Given the description of an element on the screen output the (x, y) to click on. 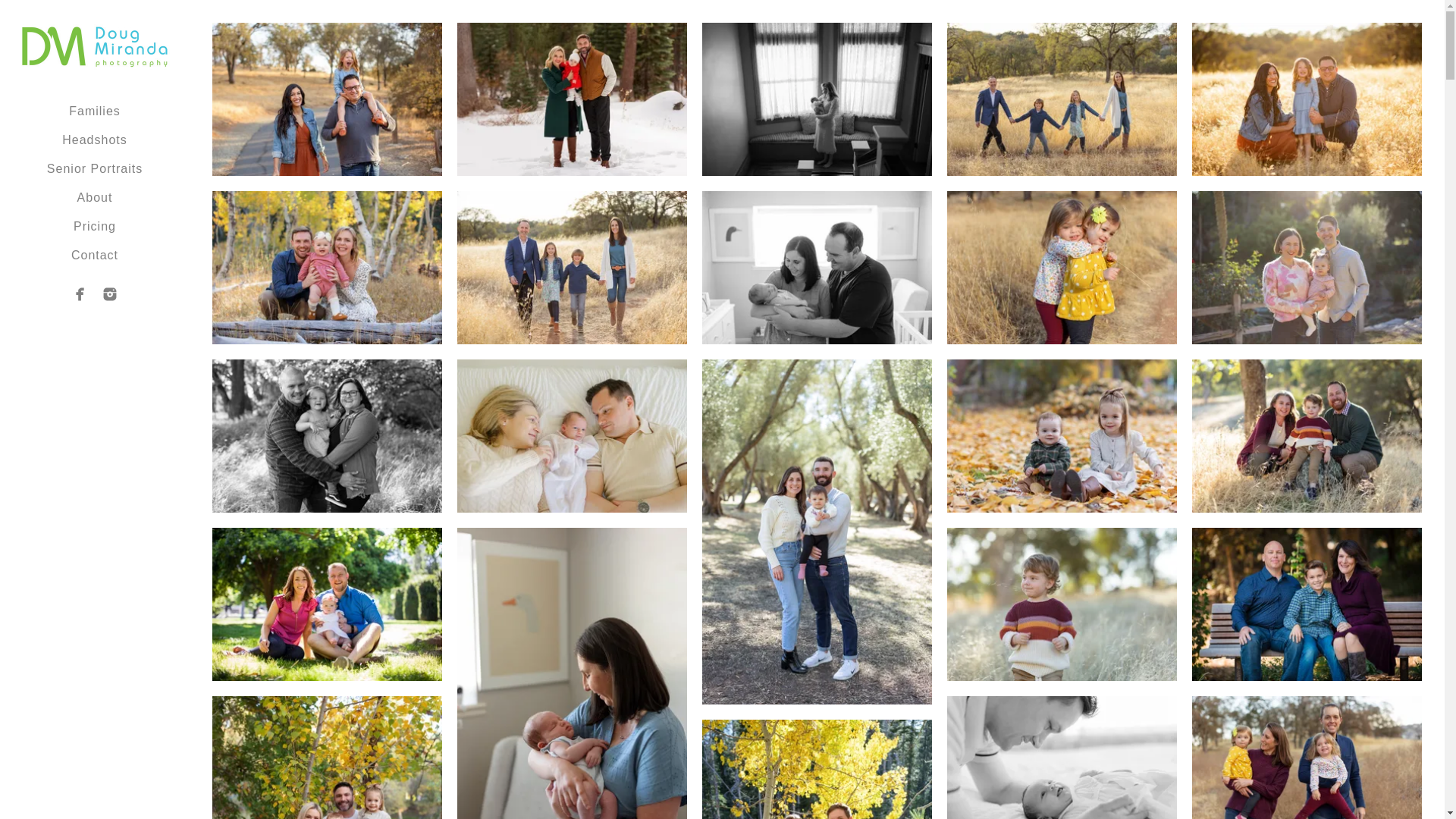
Sacramento Fall Mini Sessions (327, 757)
Contact (94, 254)
Headshots (95, 139)
Pricing (95, 226)
El Dorado Hills Family Photographer (327, 603)
Lake Tahoe Family Photography (327, 266)
Instagram (109, 294)
Families (94, 110)
Sacramento Family Photography (327, 99)
Roseville Family Portrait (327, 435)
